Given the description of an element on the screen output the (x, y) to click on. 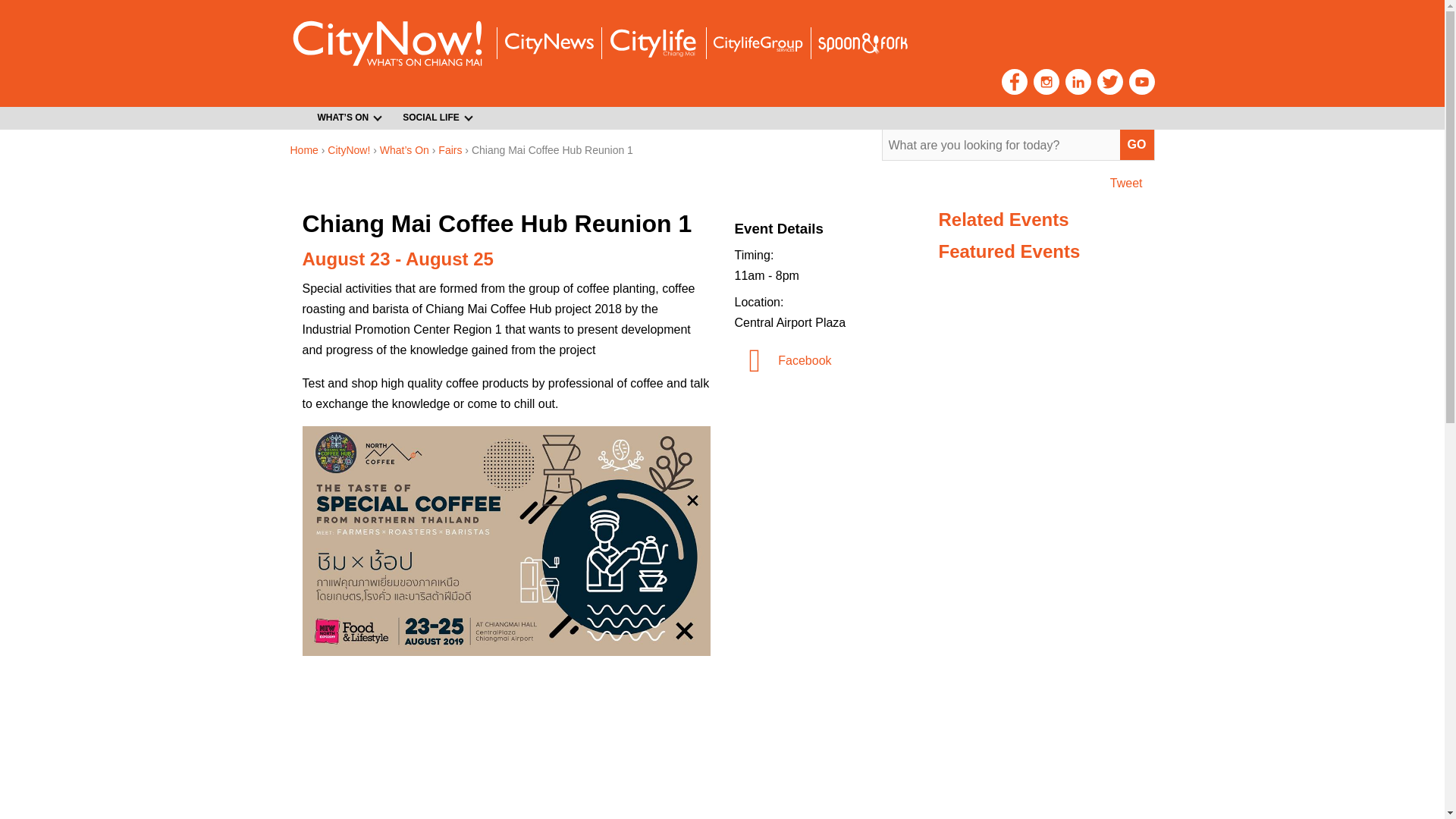
Go (1136, 144)
CityNow! - What's on Chiang Mai (386, 43)
Go (1136, 144)
CityNews (548, 43)
SOCIAL LIFE (432, 118)
Chiang Mai Citylife (652, 42)
Citylife Group Services (757, 43)
